Given the description of an element on the screen output the (x, y) to click on. 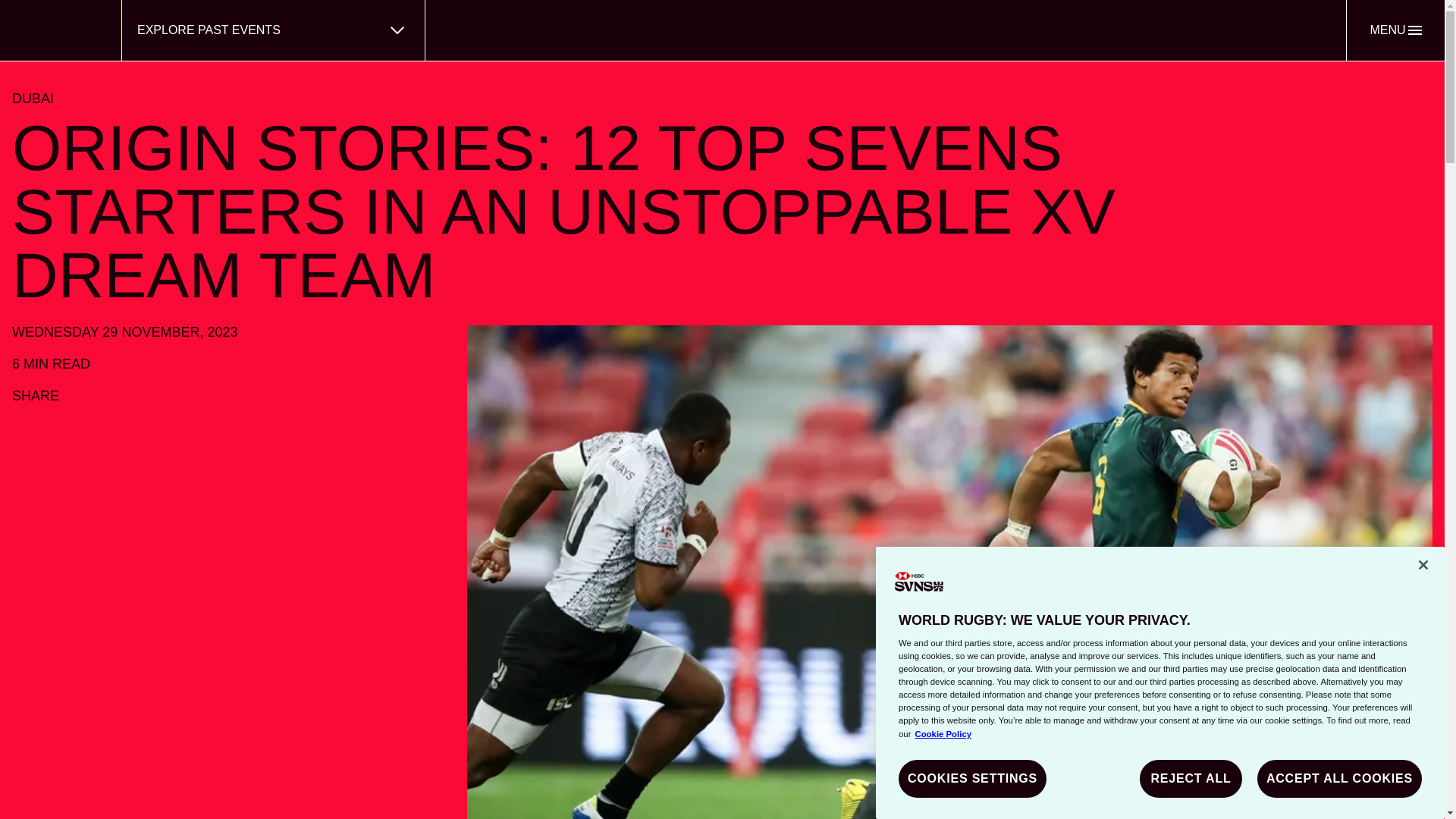
Company Logo (919, 581)
